Given the description of an element on the screen output the (x, y) to click on. 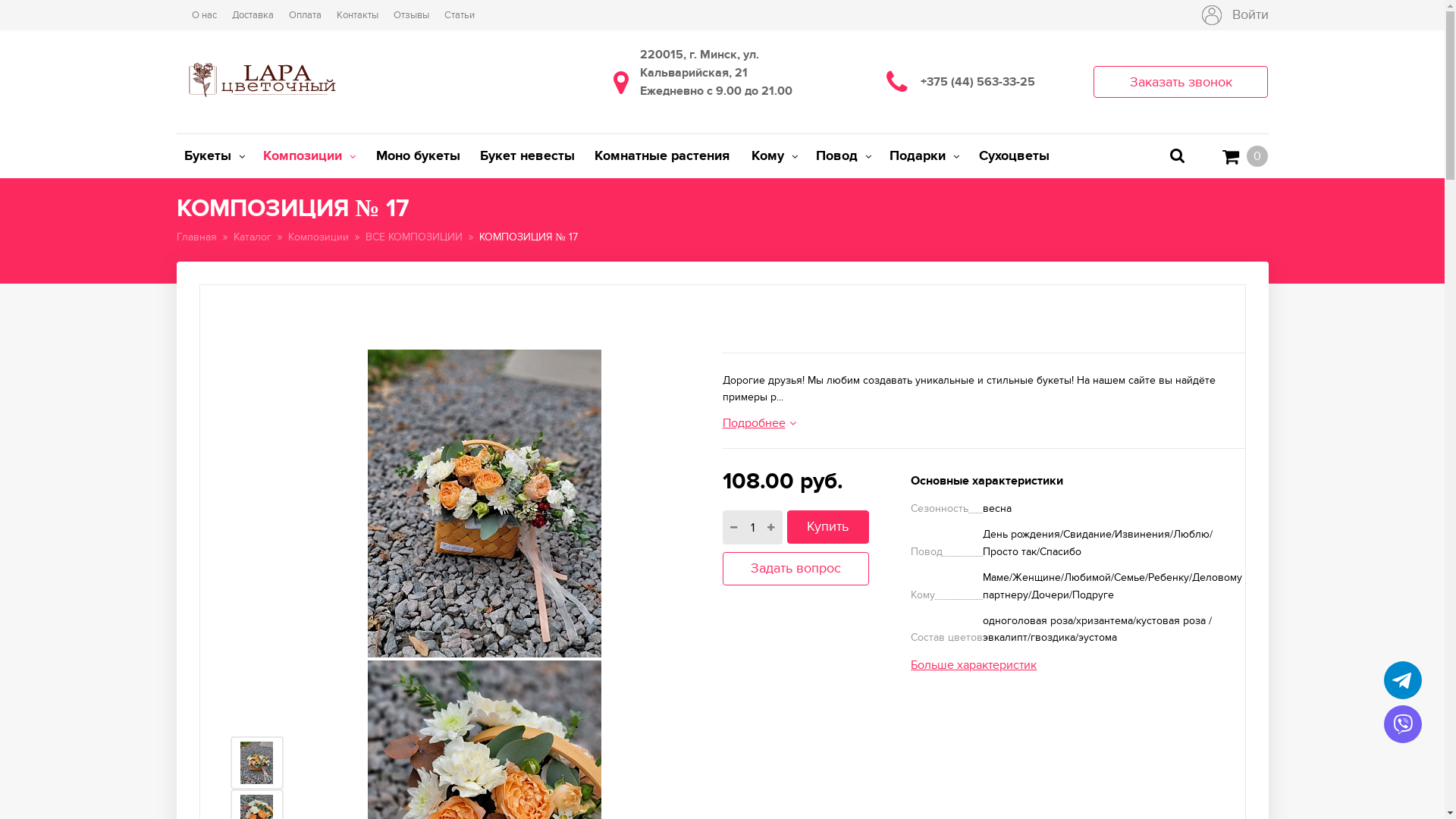
0 Element type: text (1244, 155)
+375 (44) 563-33-25 Element type: text (990, 81)
